Given the description of an element on the screen output the (x, y) to click on. 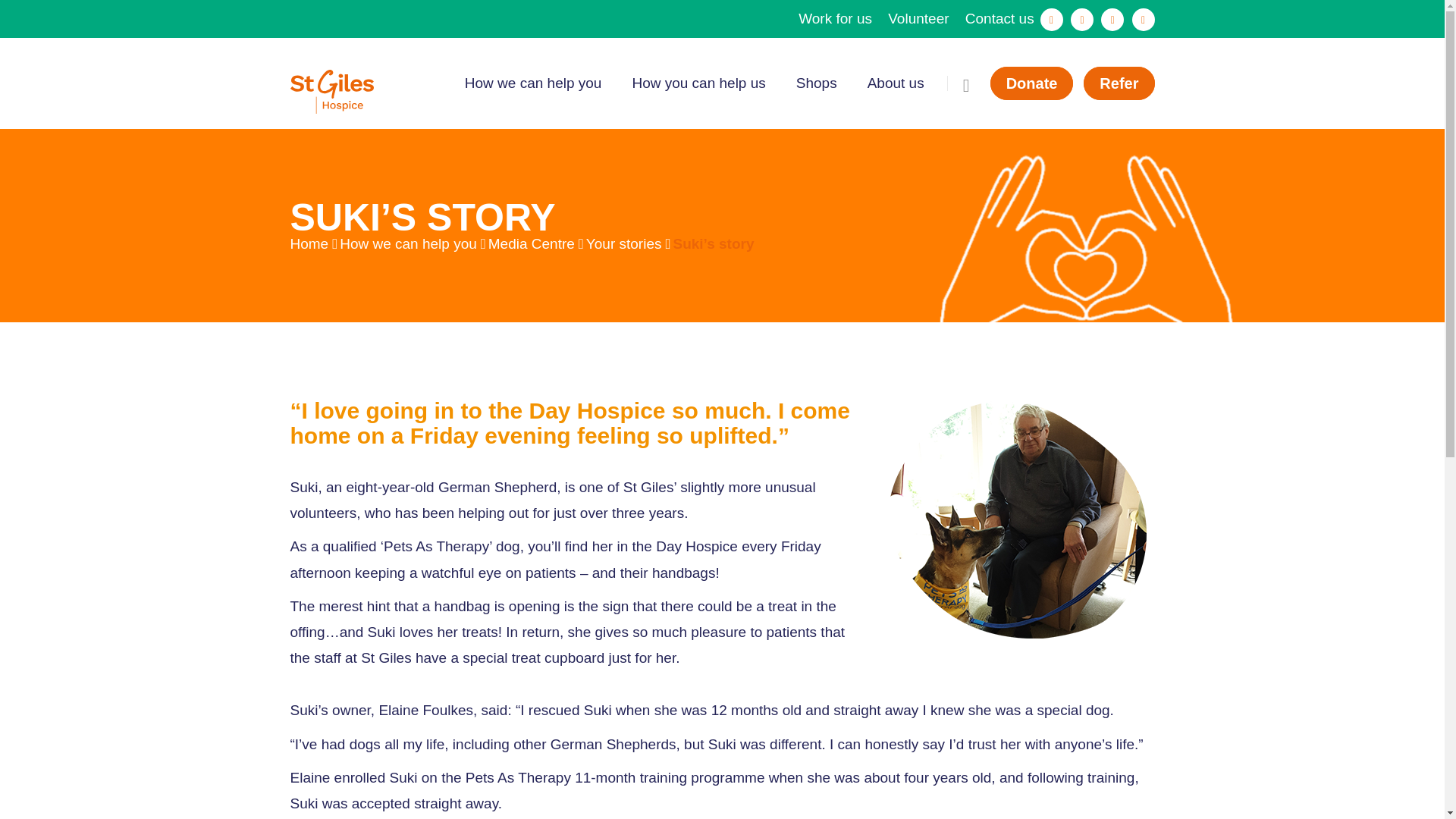
How we can help you (408, 242)
Your stories (624, 242)
Media Centre (531, 242)
Suki Blob (1017, 519)
St Giles Hospice - It takes a community to make a hospice. (330, 90)
Contact us (999, 18)
Work for us (834, 18)
Volunteer (918, 18)
